Given the description of an element on the screen output the (x, y) to click on. 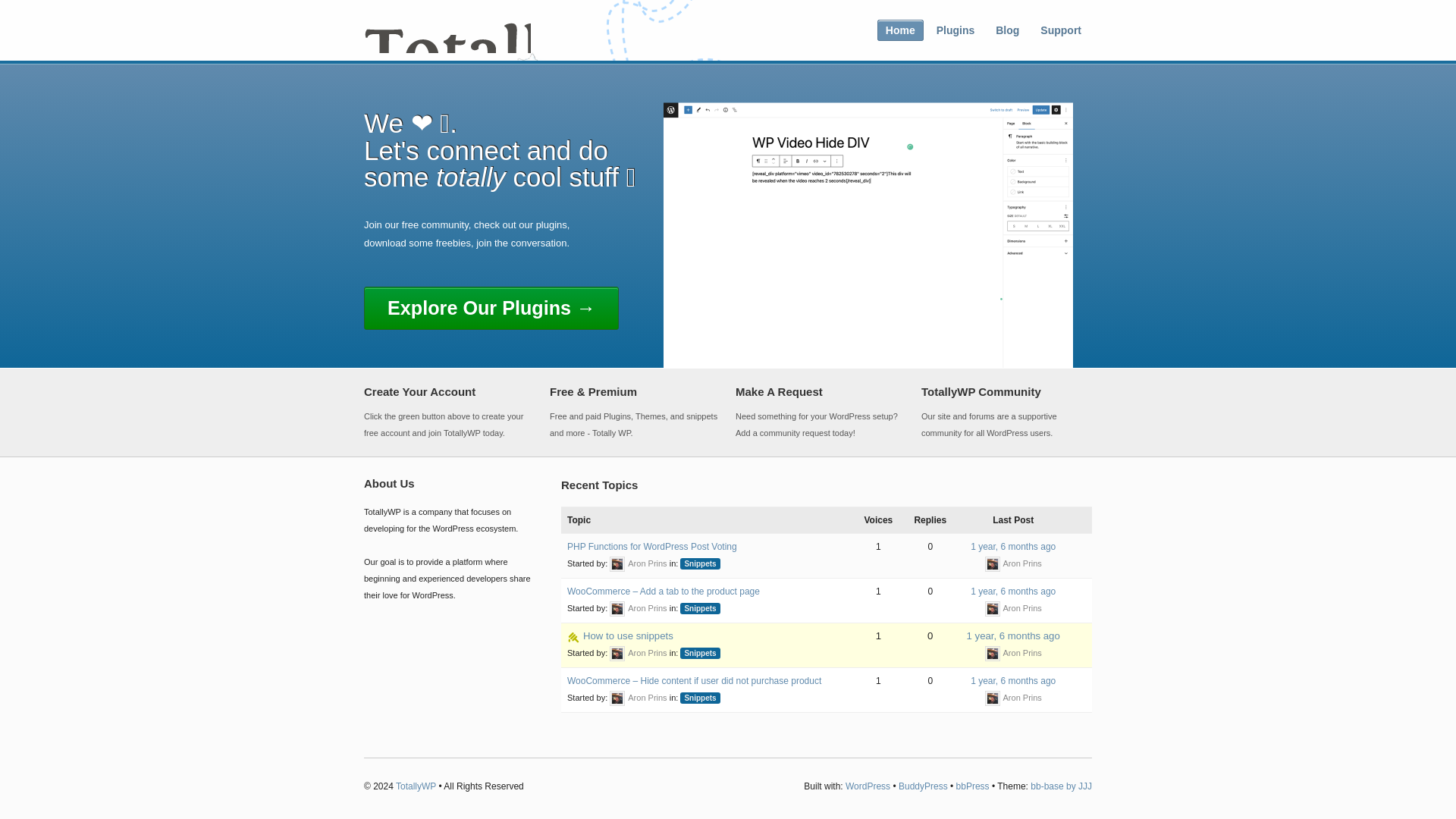
1 year, 6 months ago (1013, 680)
Support (1060, 29)
Snippets (699, 608)
How to use snippets (627, 635)
1 year, 6 months ago (1013, 591)
BuddyPress (922, 786)
Plugins (956, 29)
Aron Prins (638, 607)
Aron Prins (1013, 652)
Blog (1007, 29)
